Given the description of an element on the screen output the (x, y) to click on. 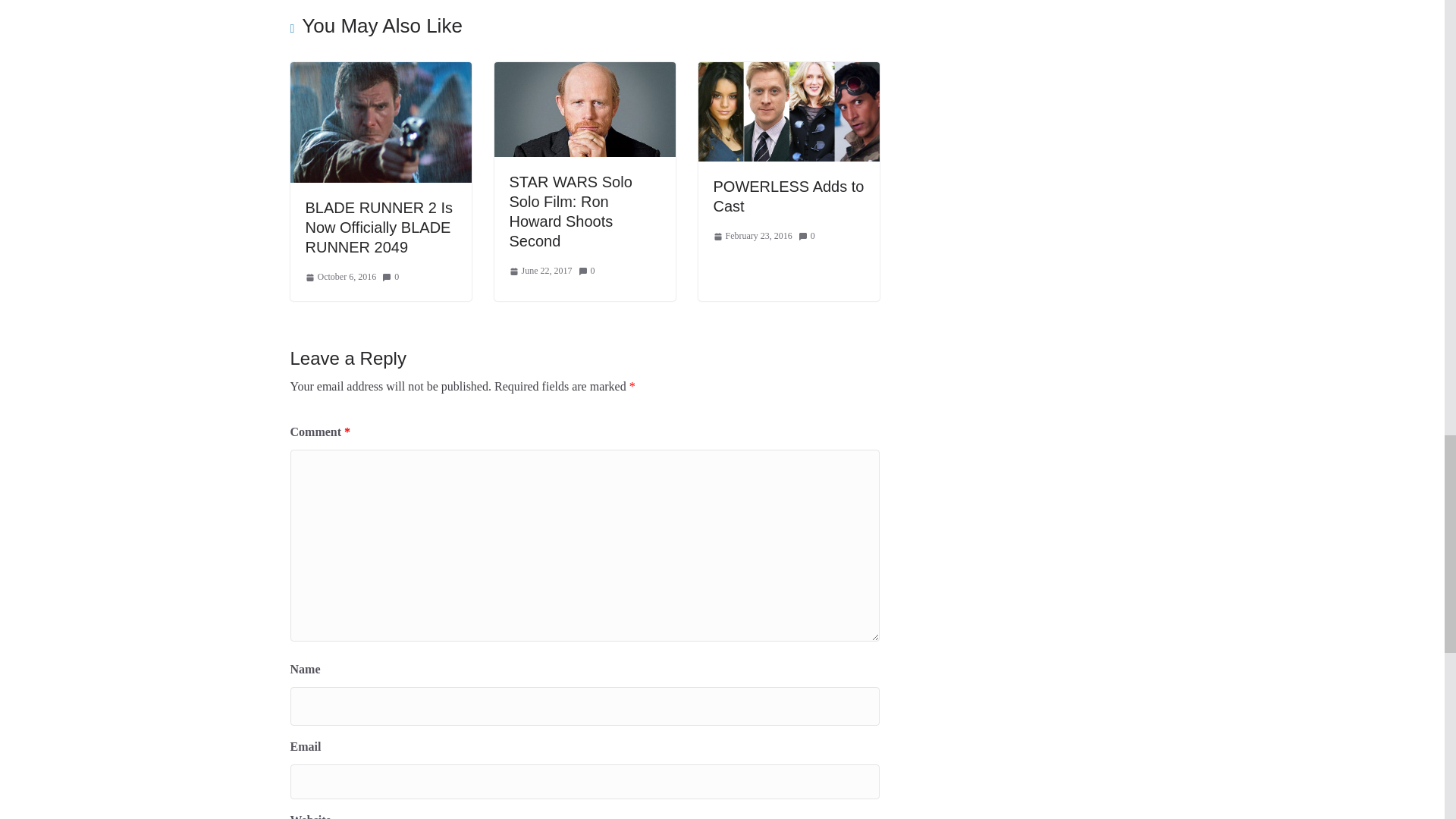
BLADE RUNNER 2 Is Now Officially BLADE RUNNER 2049 (378, 227)
BLADE RUNNER 2 Is Now Officially BLADE RUNNER 2049 (379, 72)
